Given the description of an element on the screen output the (x, y) to click on. 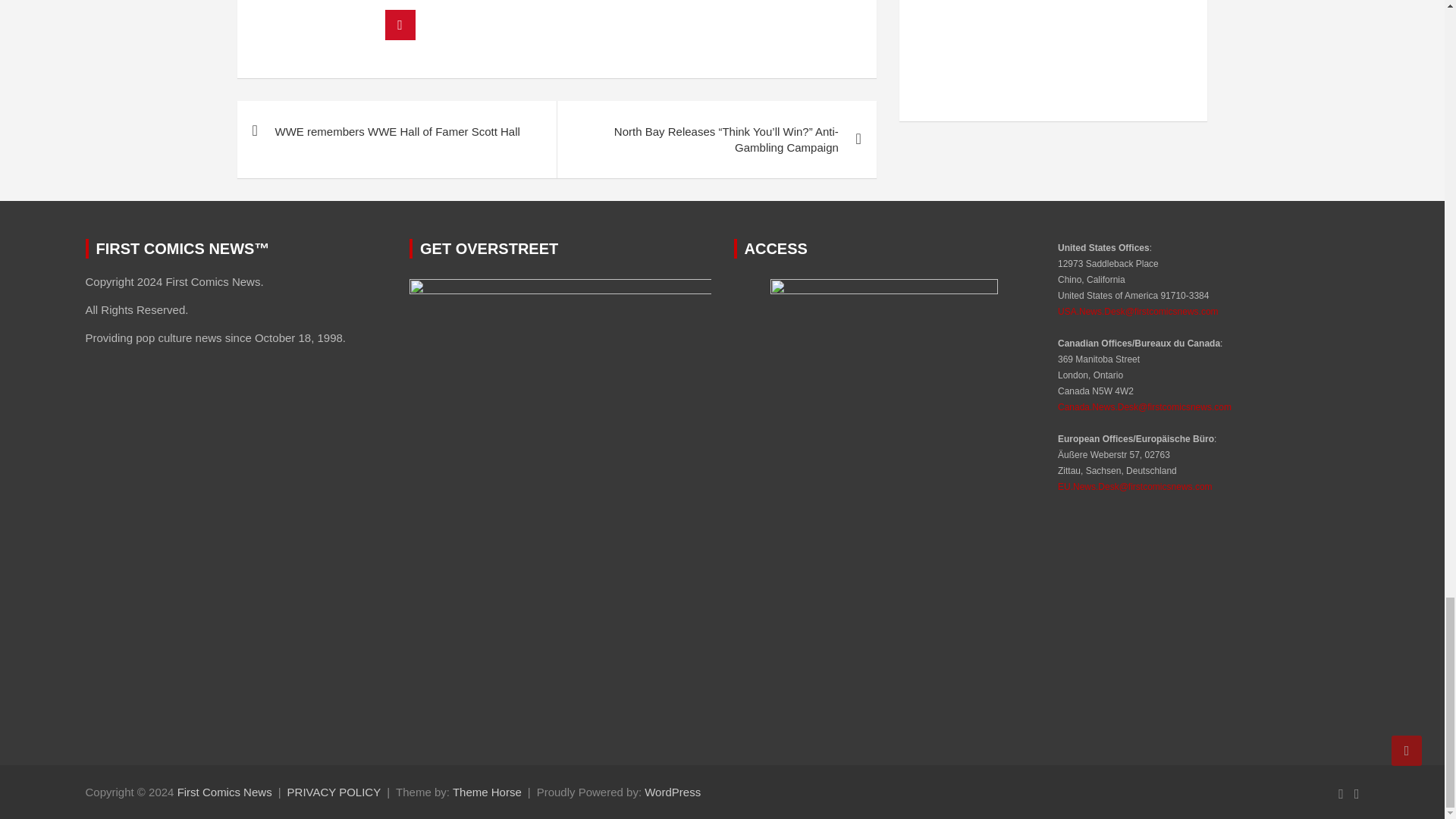
WordPress (672, 791)
Theme Horse (486, 791)
First Comics News (224, 791)
